Given the description of an element on the screen output the (x, y) to click on. 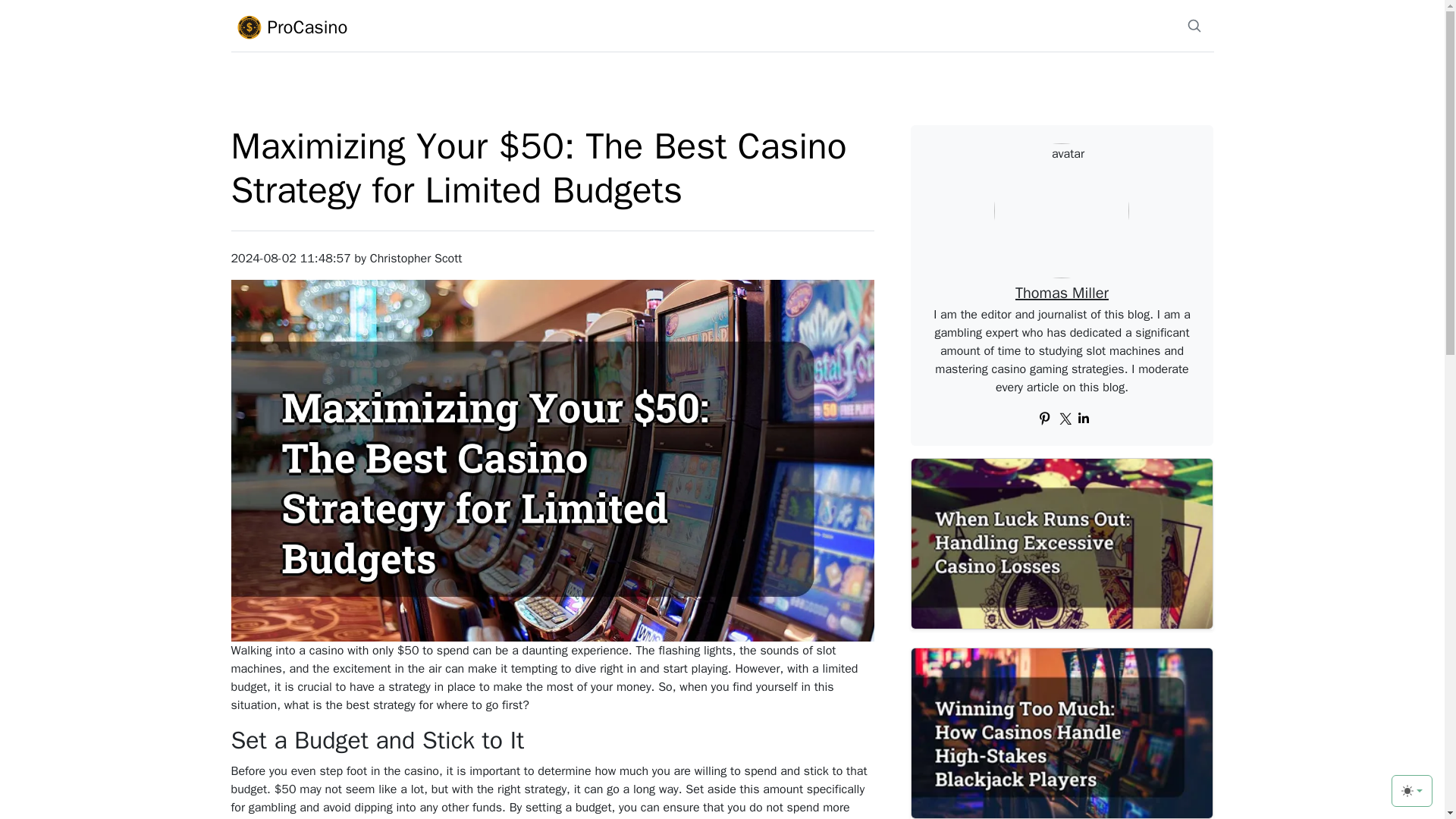
Search (1193, 25)
Thomas Miller (1061, 293)
When Luck Runs Out Handling Excessive Casino Losses (1061, 543)
Toggle theme (1411, 790)
ProCasino (388, 27)
Search (1192, 25)
